Given the description of an element on the screen output the (x, y) to click on. 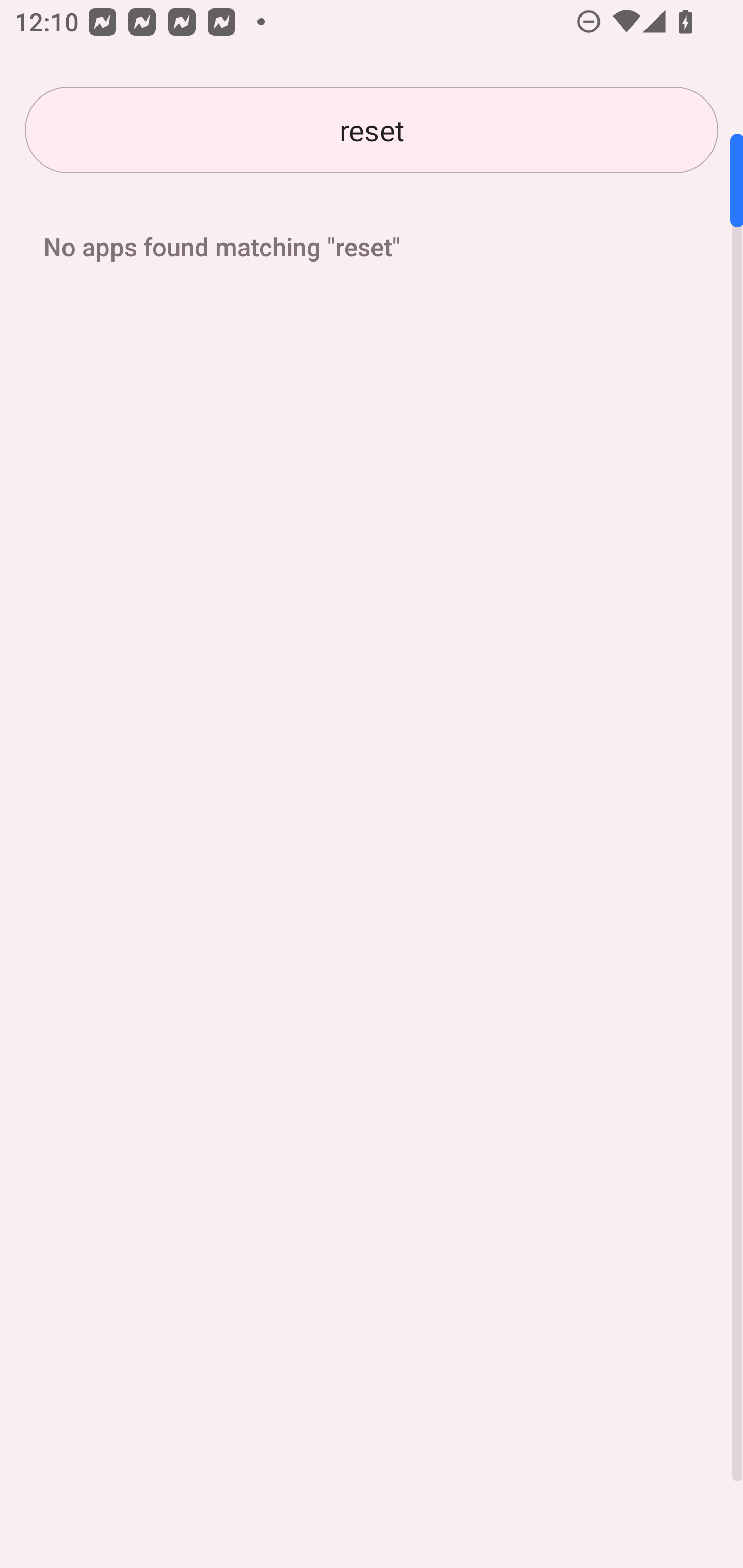
reset (371, 130)
